Given the description of an element on the screen output the (x, y) to click on. 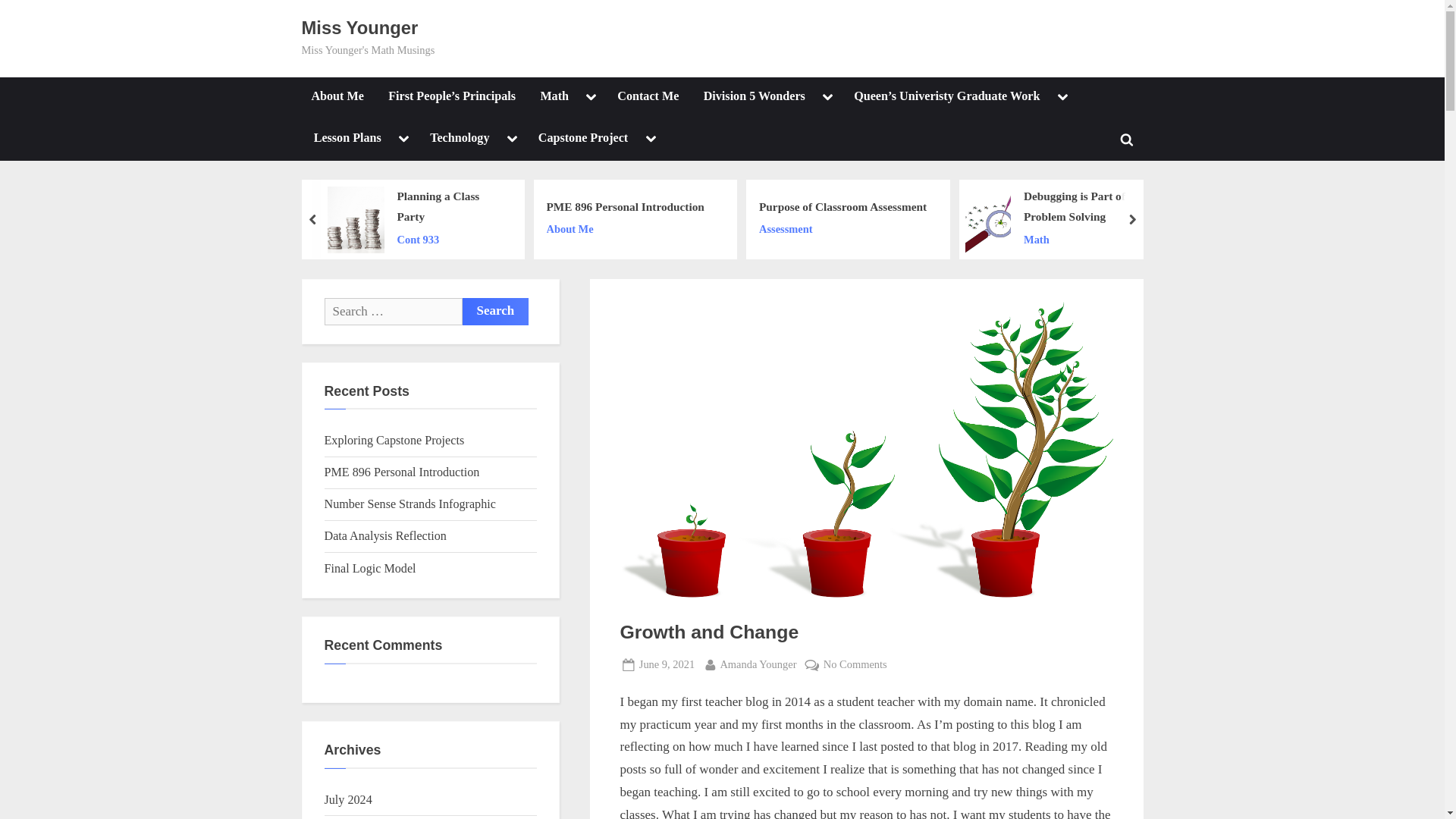
Math (553, 97)
Search (496, 311)
Toggle sub-menu (828, 97)
Toggle sub-menu (590, 97)
Division 5 Wonders (754, 97)
Search (496, 311)
Miss Younger (360, 27)
Contact Me (647, 97)
About Me (337, 97)
Toggle sub-menu (1062, 97)
